Given the description of an element on the screen output the (x, y) to click on. 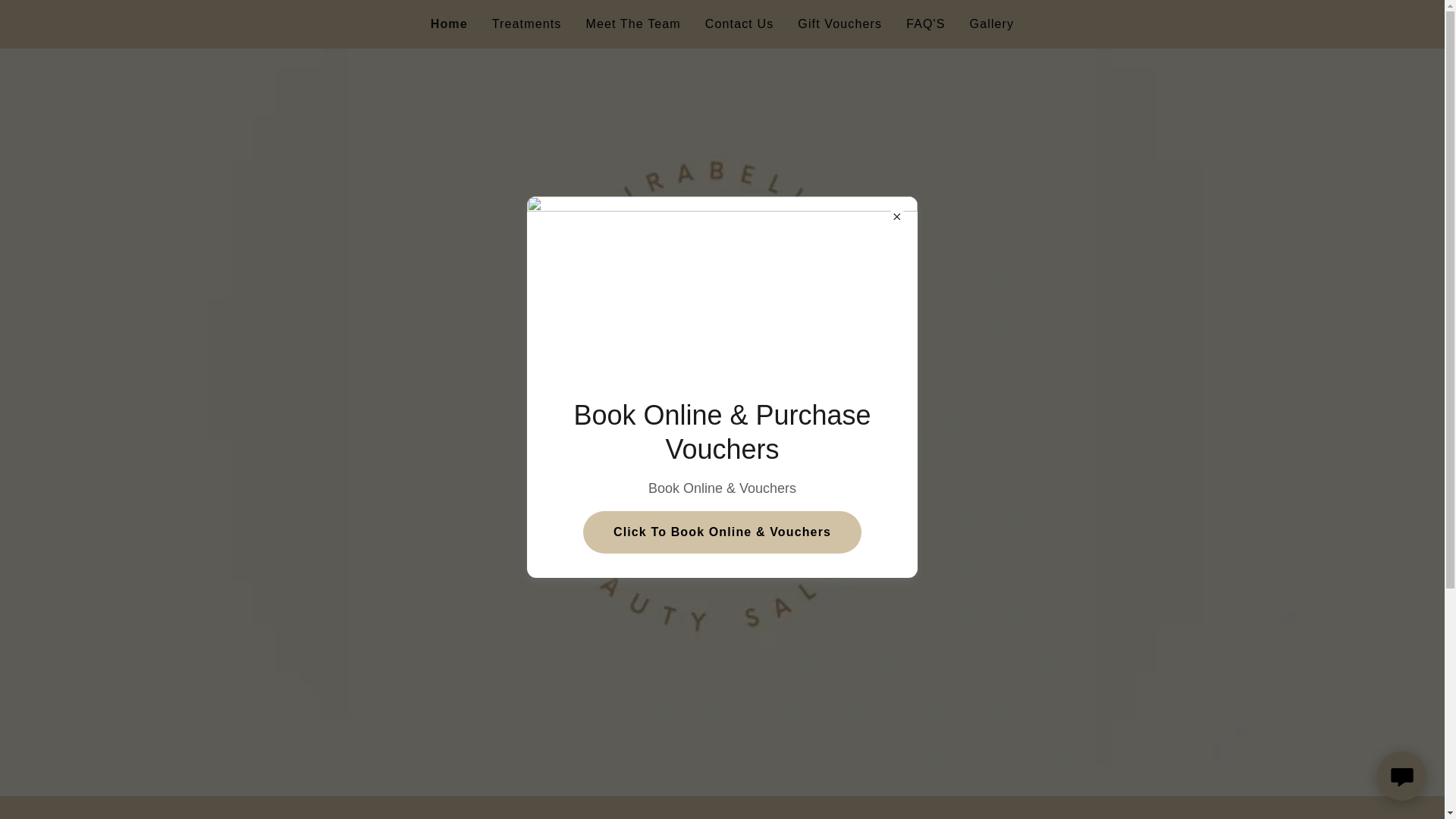
Home (448, 24)
Gallery (992, 23)
FAQ'S (925, 23)
Meet The Team (632, 23)
Contact Us (739, 23)
Treatments (526, 23)
Gift Vouchers (839, 23)
